Given the description of an element on the screen output the (x, y) to click on. 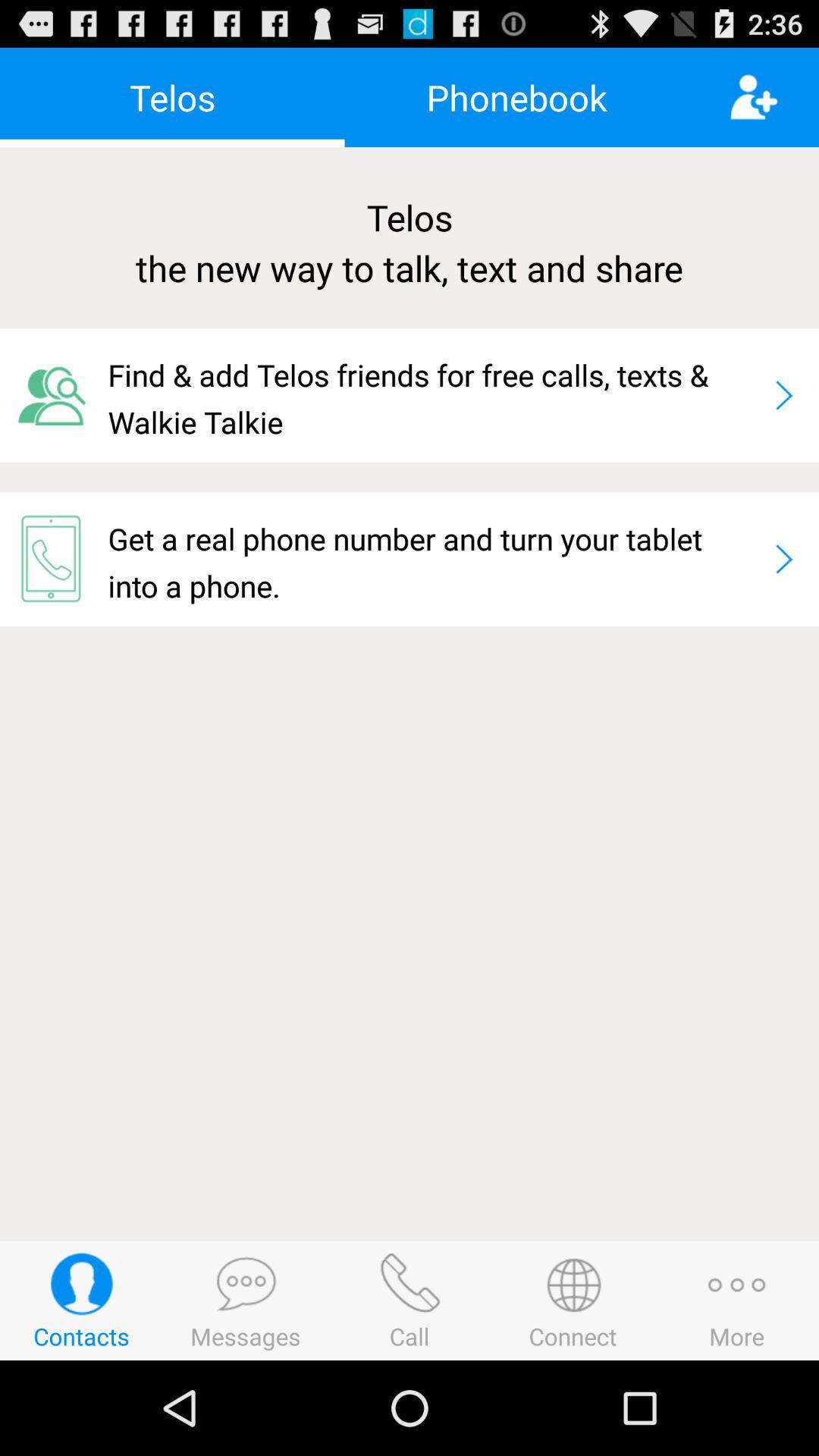
choose the app above telos the new icon (774, 97)
